Given the description of an element on the screen output the (x, y) to click on. 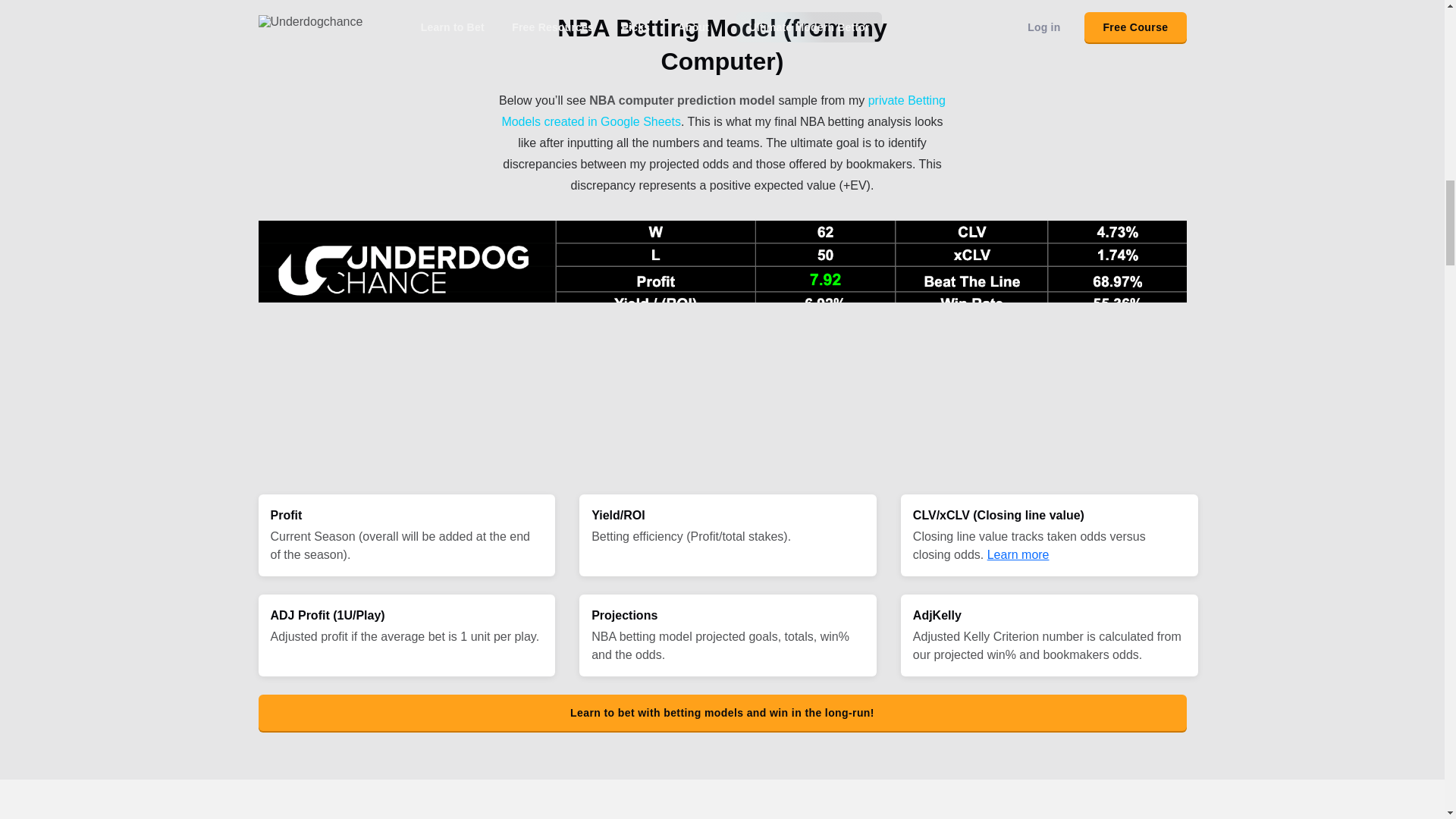
private Betting Models created in Google Sheets (722, 110)
Learn more (1018, 554)
Learn to bet with betting models and win in the long-run! (721, 712)
